Given the description of an element on the screen output the (x, y) to click on. 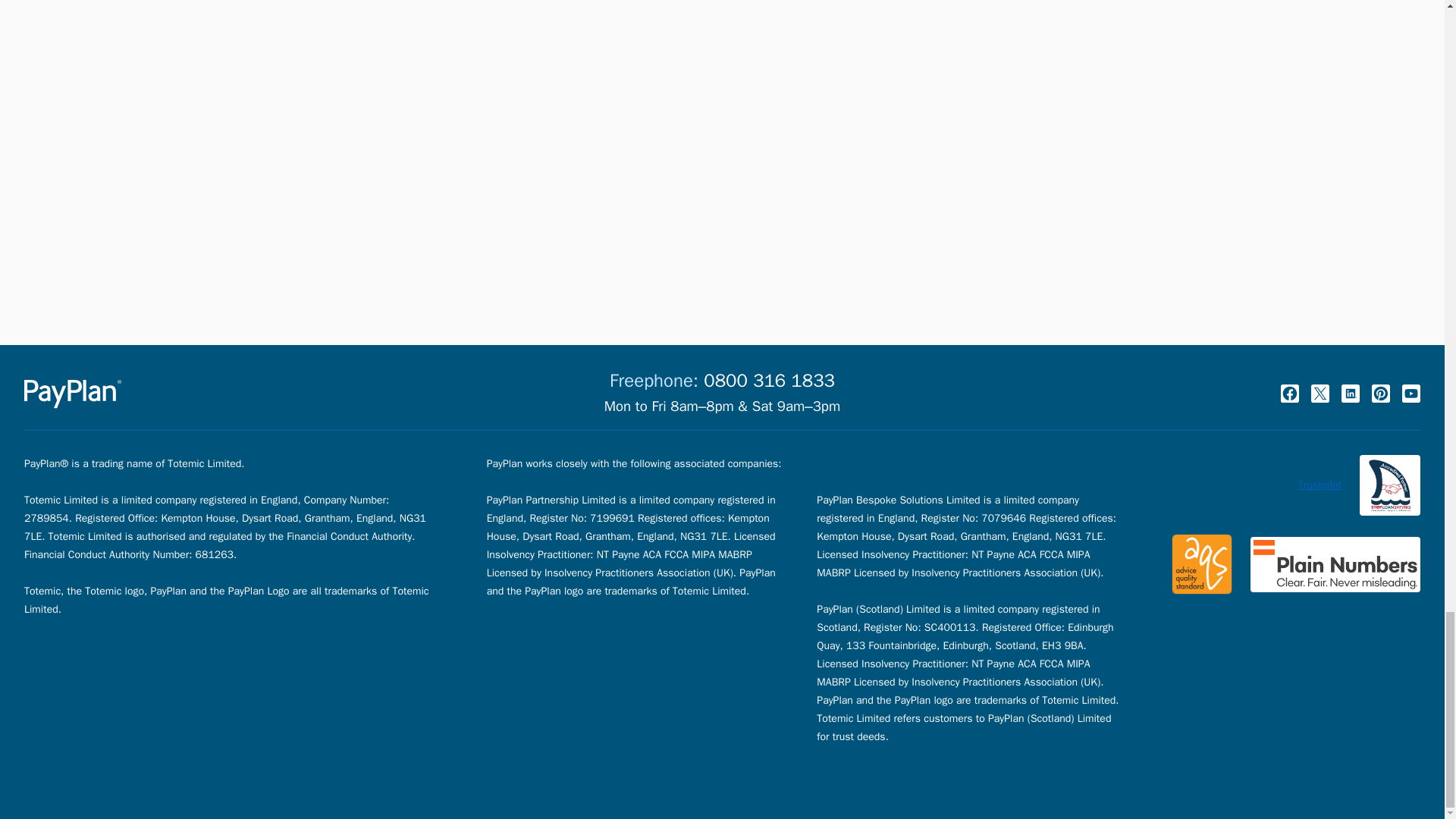
facebook (1289, 393)
Trustpilot (1319, 484)
youtube (1411, 393)
0800 316 1833 (768, 380)
twitter (1320, 393)
linkedin (1349, 393)
pinterest (1380, 393)
